Given the description of an element on the screen output the (x, y) to click on. 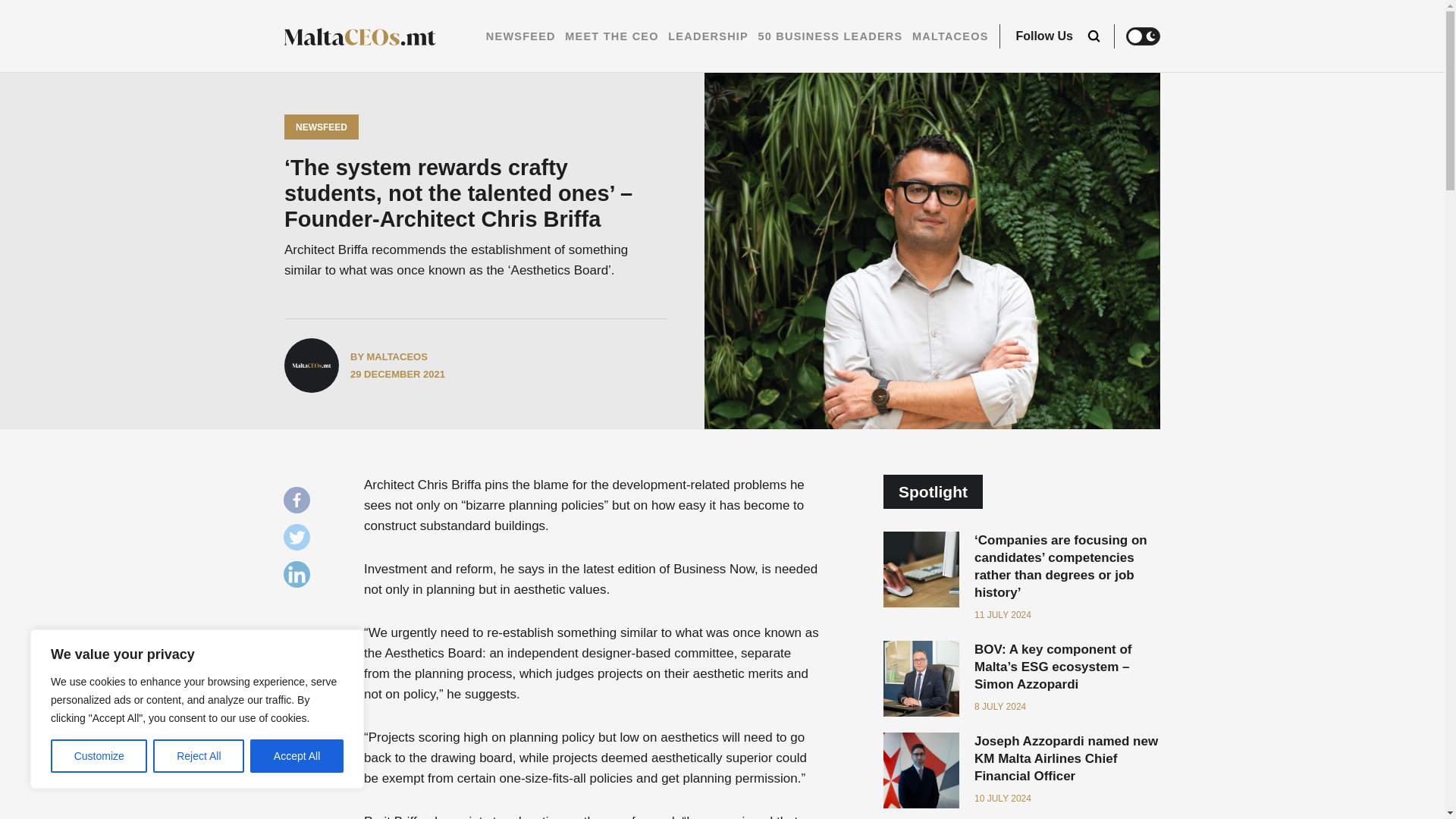
LEADERSHIP (708, 36)
Reject All (198, 756)
Customize (98, 756)
MEET THE CEO (611, 36)
MALTACEOS (950, 36)
Twitter (300, 540)
Facebook (300, 503)
50 BUSINESS LEADERS (829, 36)
NEWSFEED (521, 36)
Accept All (296, 756)
Linkedin (300, 578)
